Given the description of an element on the screen output the (x, y) to click on. 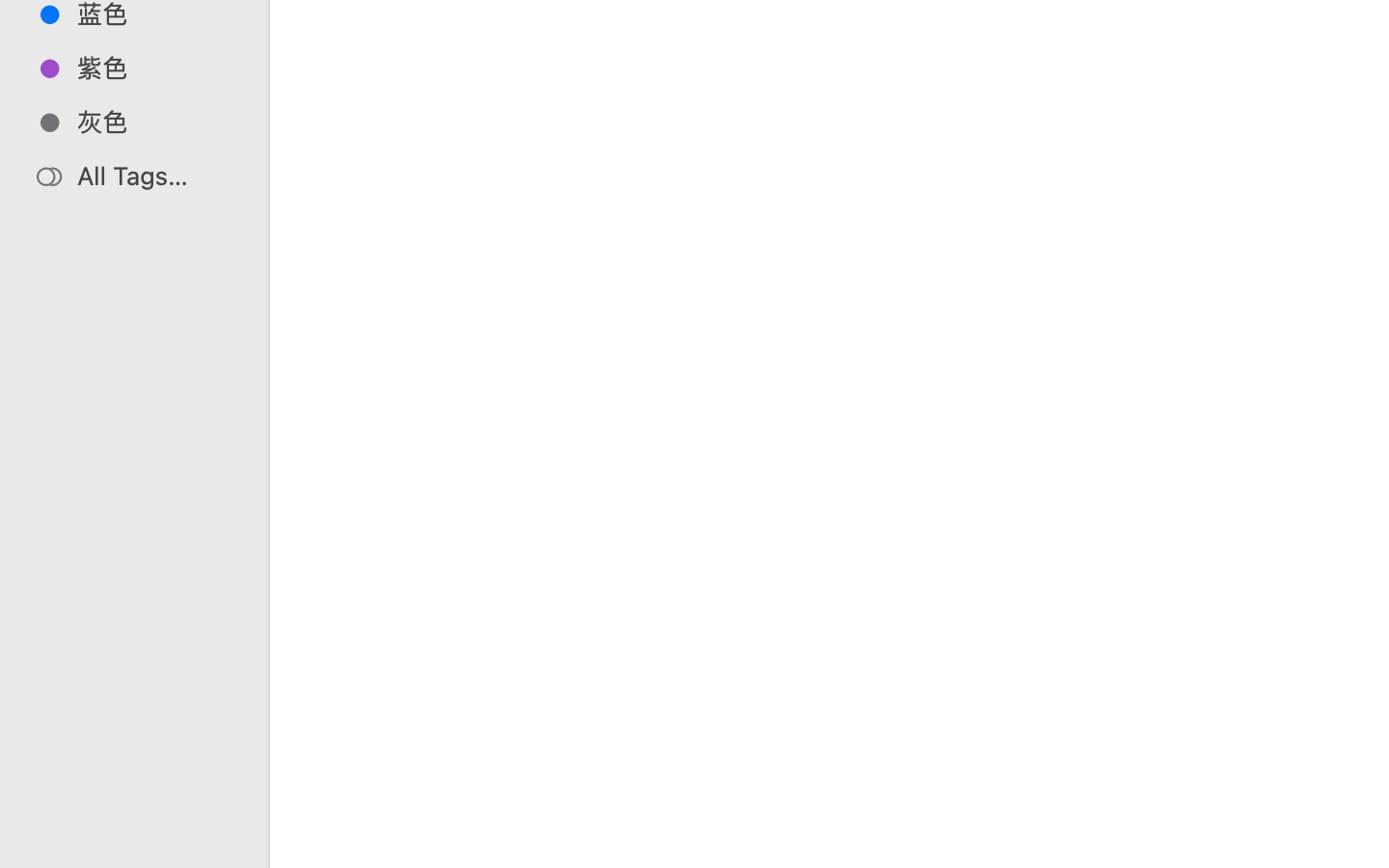
Tags… Element type: AXStaticText (41, 852)
